Given the description of an element on the screen output the (x, y) to click on. 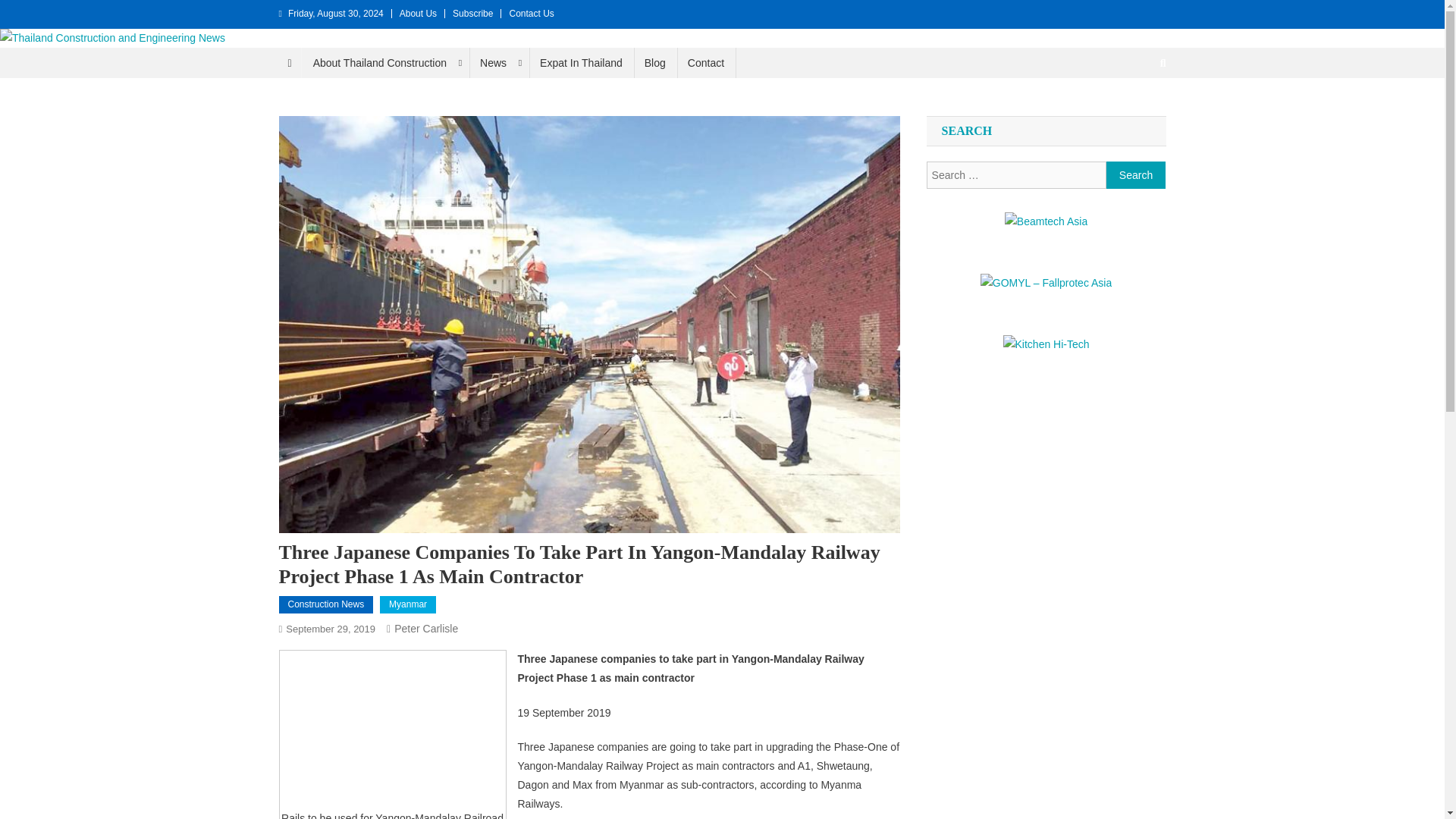
Peter Carlisle (426, 628)
Search (1133, 113)
September 29, 2019 (330, 628)
Search (1136, 175)
Search (1136, 175)
Contact (705, 62)
Blog (654, 62)
Subscribe (472, 13)
Contact Us (530, 13)
About Thailand Construction (385, 62)
